Given the description of an element on the screen output the (x, y) to click on. 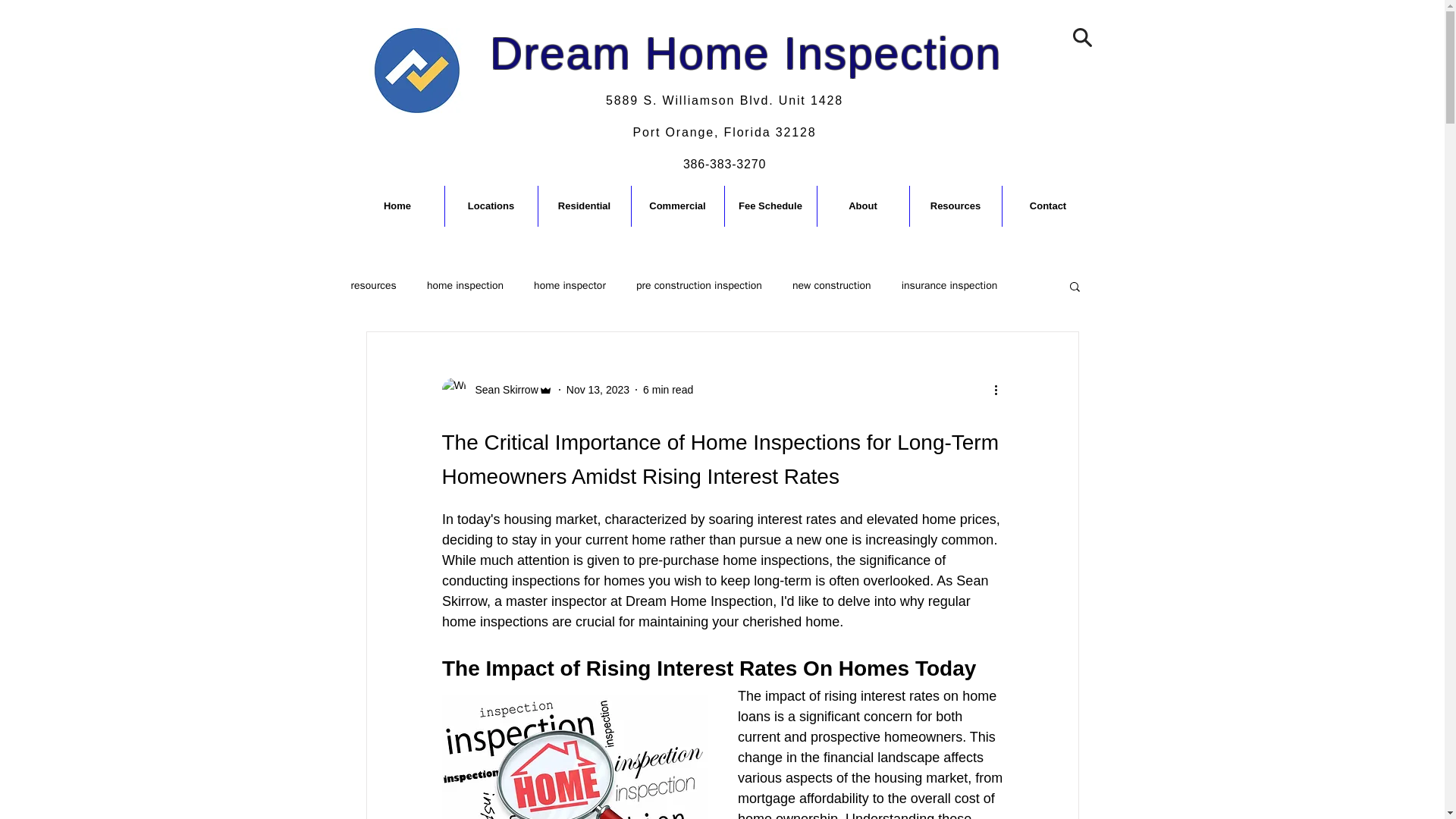
Nov 13, 2023 (737, 116)
new construction (597, 389)
About (831, 285)
resources (862, 205)
6 min read (373, 285)
5889 S. Williamson Blvd. Unit (668, 389)
Fee Schedule (705, 100)
Sean Skirrow (770, 205)
386-383-3270 (501, 390)
